Given the description of an element on the screen output the (x, y) to click on. 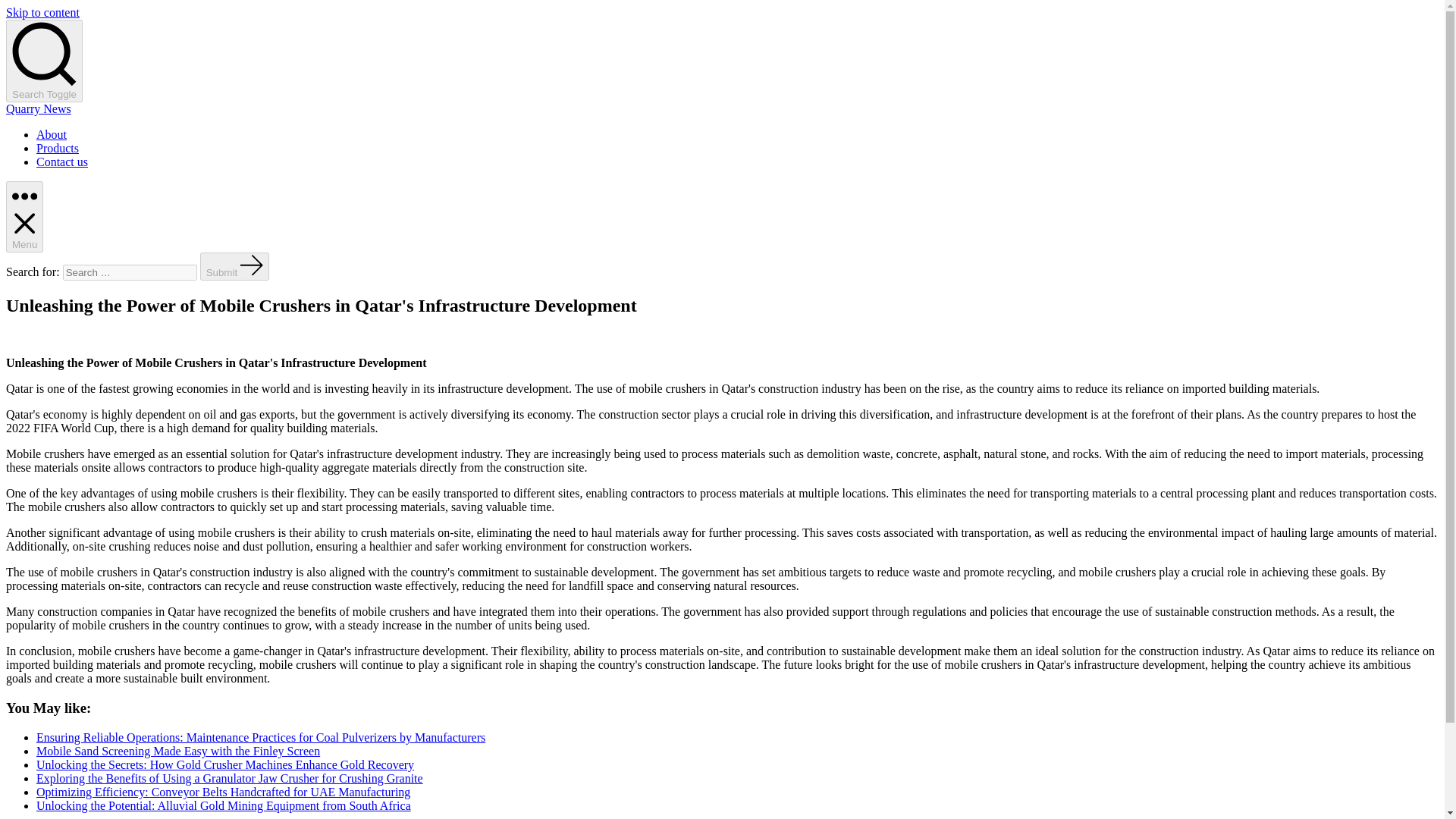
Skip to content (42, 11)
Search Toggle (43, 60)
Products (57, 147)
Quarry News (38, 108)
Submit (234, 266)
About (51, 133)
Contact us (61, 161)
Mobile Sand Screening Made Easy with the Finley Screen (178, 750)
